Given the description of an element on the screen output the (x, y) to click on. 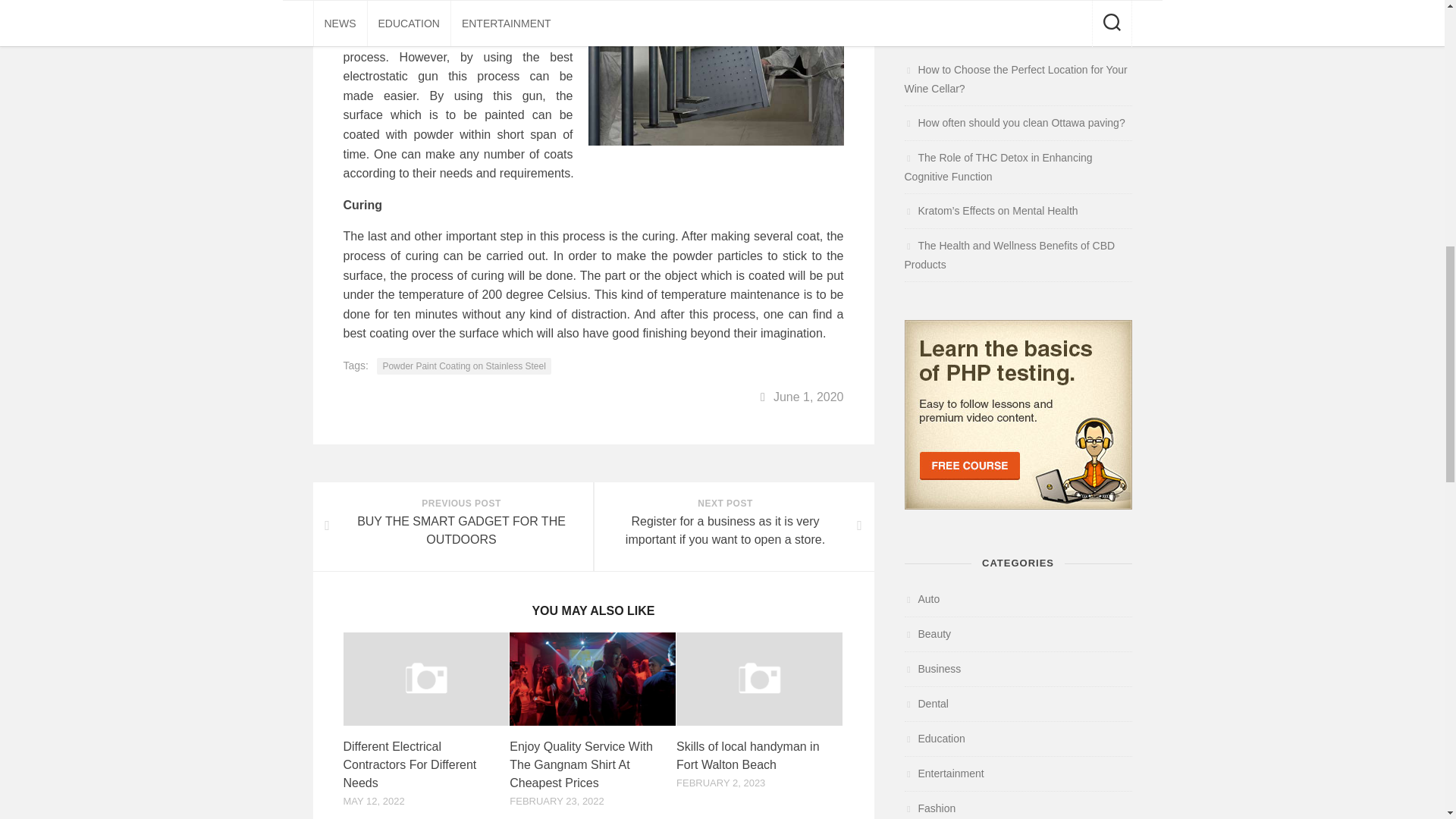
Business (932, 668)
Entertainment (452, 526)
How often should you clean Ottawa paving? (944, 773)
Dental (1014, 122)
Auto (925, 703)
Education (921, 598)
Powder Paint Coating on Stainless Steel (933, 738)
Different Electrical Contractors For Different Needs (463, 365)
The Health and Wellness Benefits of CBD Products (409, 764)
Beauty (1009, 255)
How to Choose the Perfect Location for Your Wine Cellar? (927, 633)
The Role of THC Detox in Enhancing Cognitive Function (1015, 79)
